Given the description of an element on the screen output the (x, y) to click on. 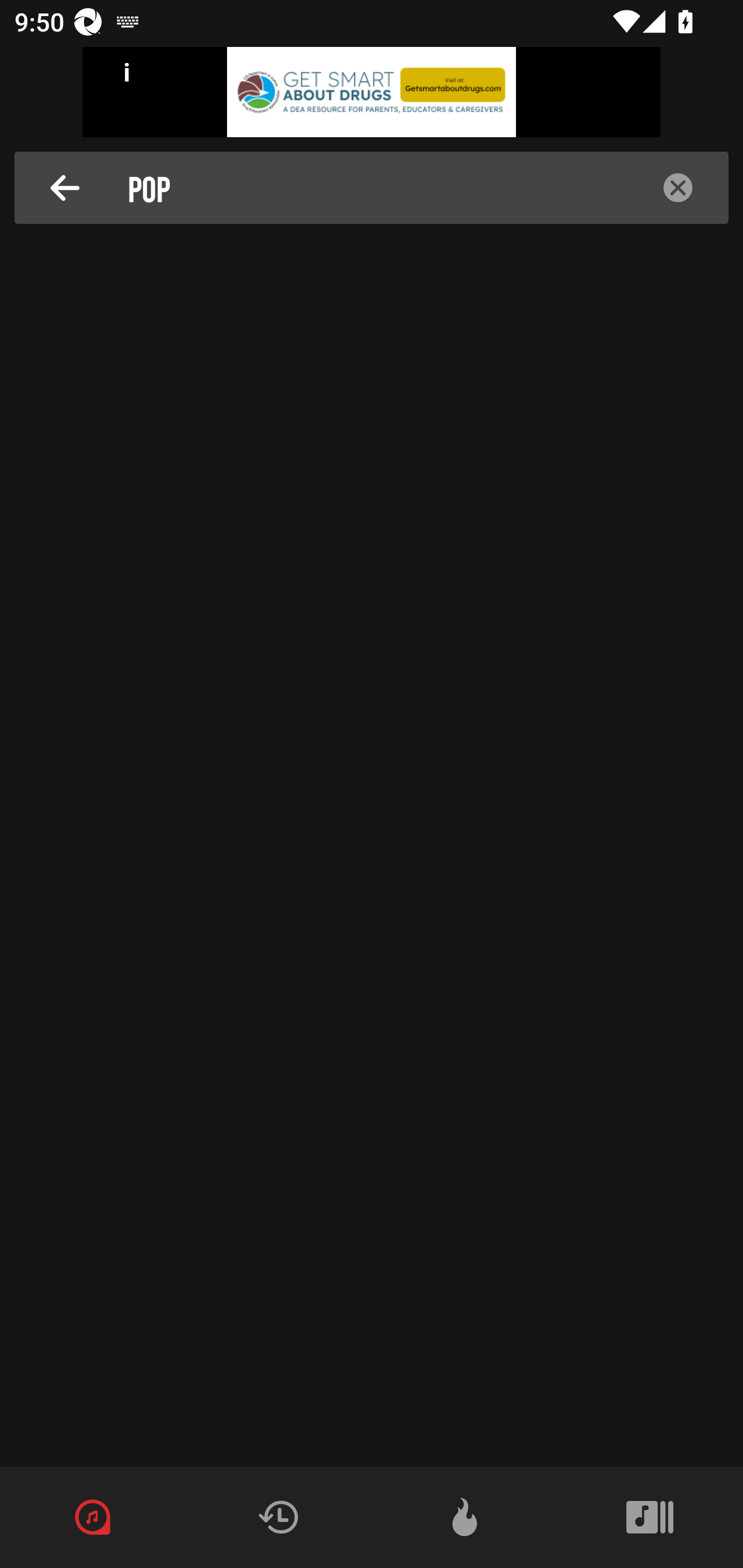
Pop (377, 188)
Description (64, 188)
Description (677, 188)
